Given the description of an element on the screen output the (x, y) to click on. 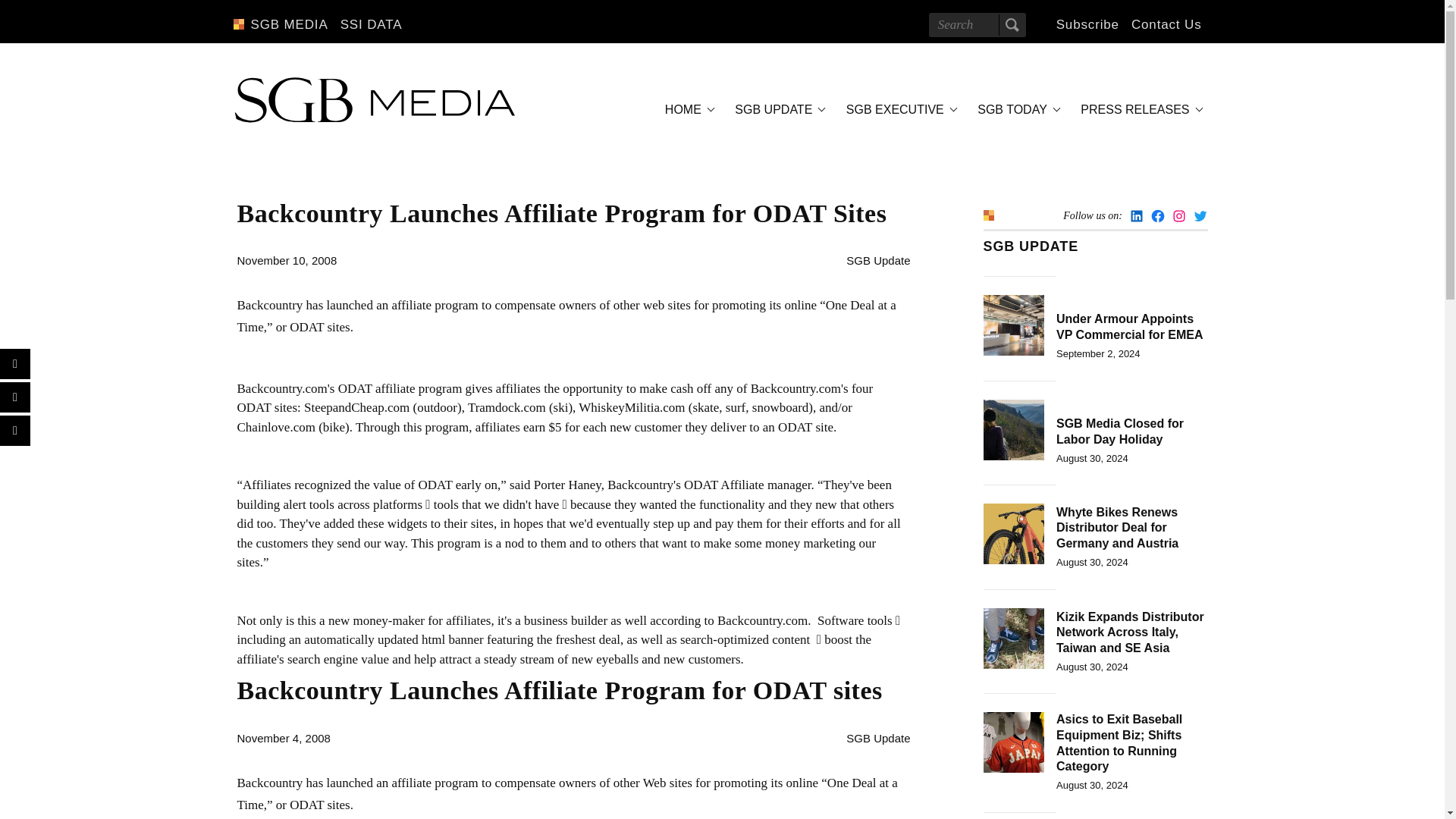
SSI DATA (371, 24)
PRESS RELEASES (1139, 109)
SGB EXECUTIVE (899, 109)
Subscribe (1087, 24)
SGB TODAY (1016, 109)
HOME (687, 109)
SGB MEDIA (288, 24)
Search for: (977, 24)
SGB Update (877, 259)
SGB UPDATE (777, 109)
